Given the description of an element on the screen output the (x, y) to click on. 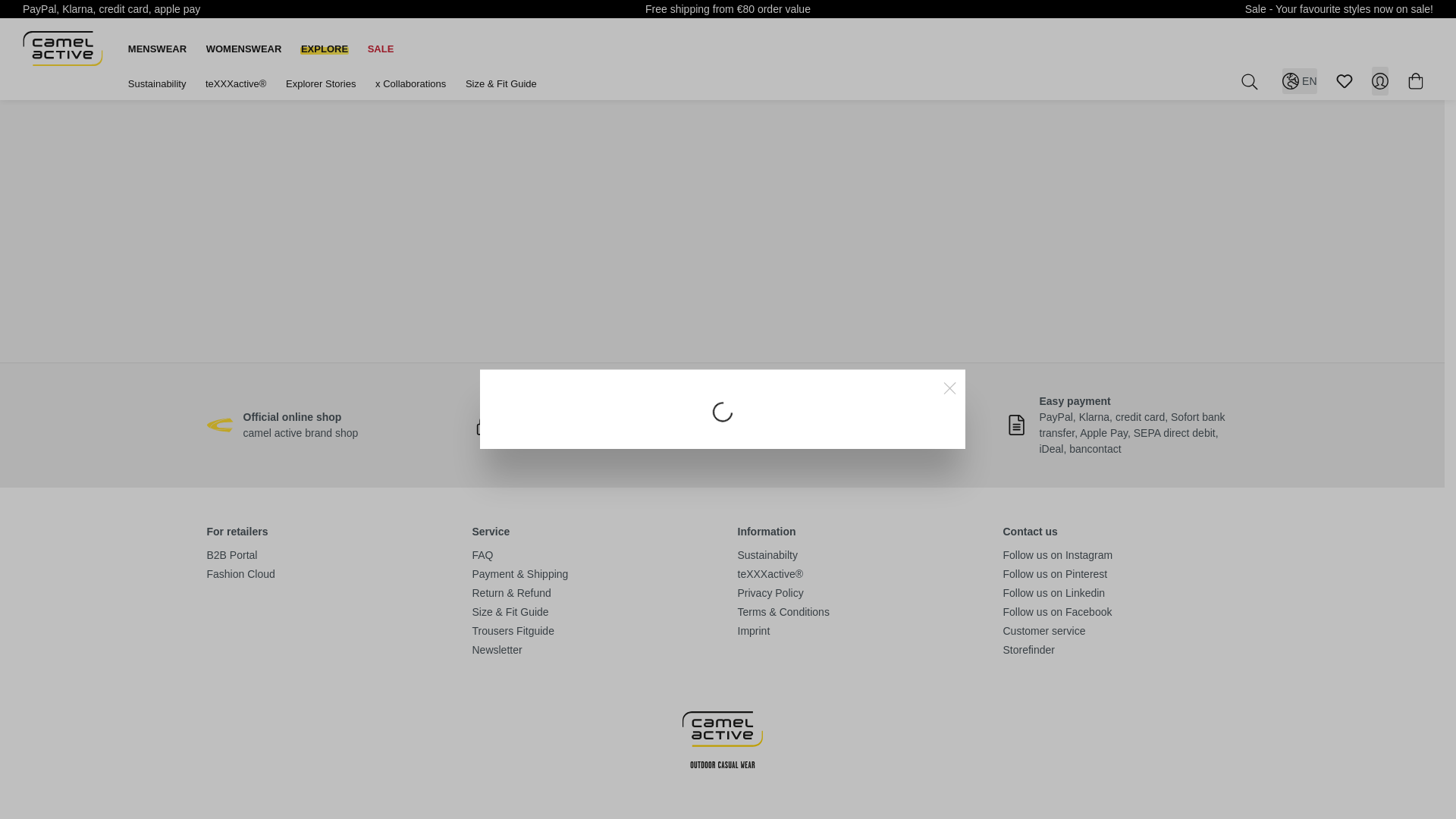
Official online shop camel active brand shop (219, 424)
Secure online shopping Safe SSL-connection (484, 424)
